Given the description of an element on the screen output the (x, y) to click on. 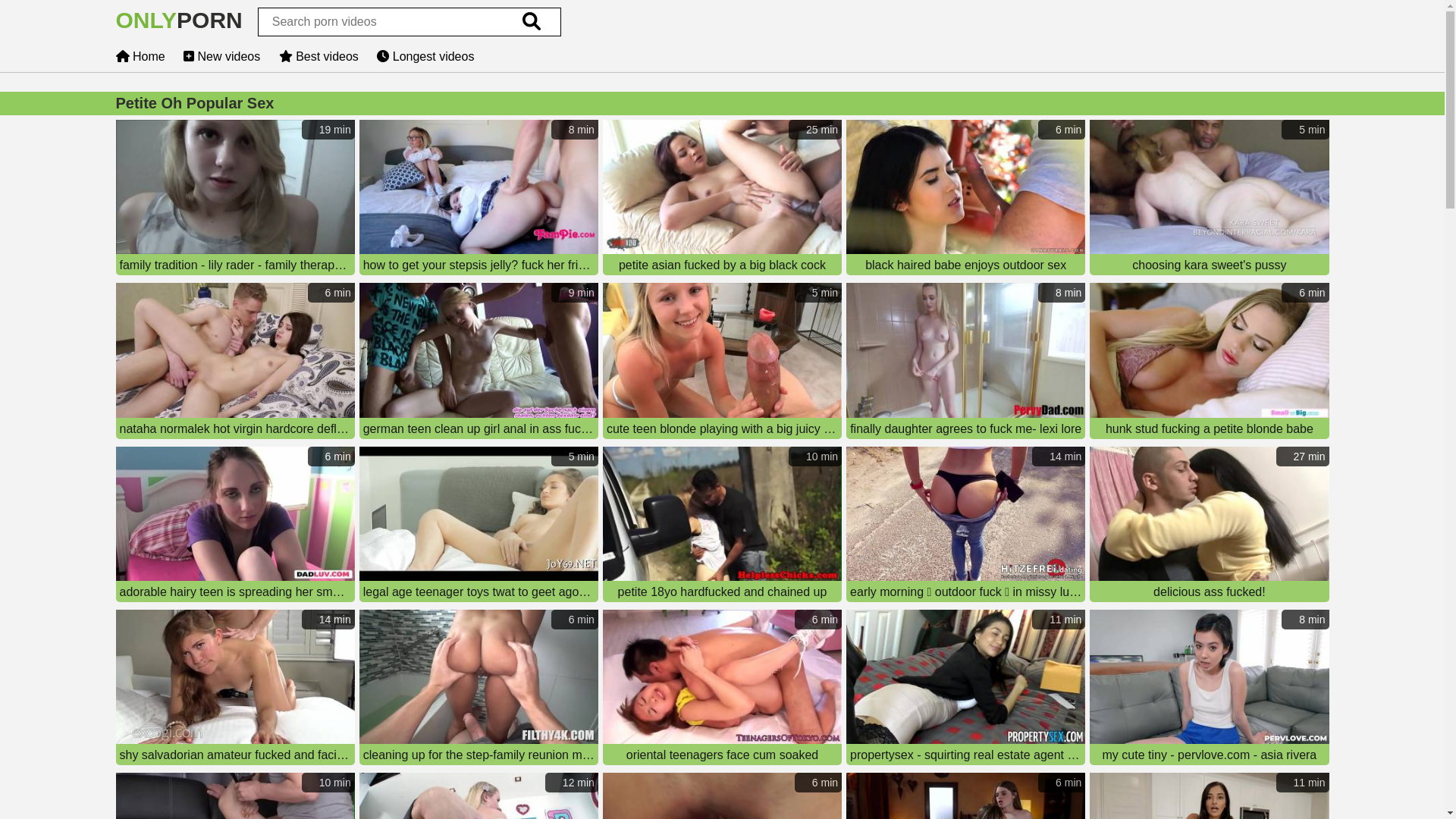
6 min
nataha normalek hot virgin hardcore defloration Element type: text (234, 361)
6 min
black haired babe enjoys outdoor sex Element type: text (965, 198)
10 min
petite 18yo hardfucked and chained up Element type: text (721, 525)
6 min
hunk stud fucking a petite blonde babe Element type: text (1208, 361)
5 min
choosing kara sweet's pussy Element type: text (1208, 198)
8 min
my cute tiny - pervlove.com - asia rivera Element type: text (1208, 688)
25 min
petite asian fucked by a big black cock Element type: text (721, 198)
27 min
delicious ass fucked! Element type: text (1208, 525)
Home Element type: text (139, 56)
8 min
finally daughter agrees to fuck me- lexi lore Element type: text (965, 361)
8 min
how to get your stepsis jelly? fuck her friend silly Element type: text (478, 198)
5 min
legal age teenager toys twat to geet agonorgasmos Element type: text (478, 525)
6 min
oriental teenagers face cum soaked Element type: text (721, 688)
New videos Element type: text (221, 56)
Longest videos Element type: text (424, 56)
Best videos Element type: text (318, 56)
ONLYPORN Element type: text (178, 24)
14 min
shy salvadorian amateur fucked and facialed Element type: text (234, 688)
